Given the description of an element on the screen output the (x, y) to click on. 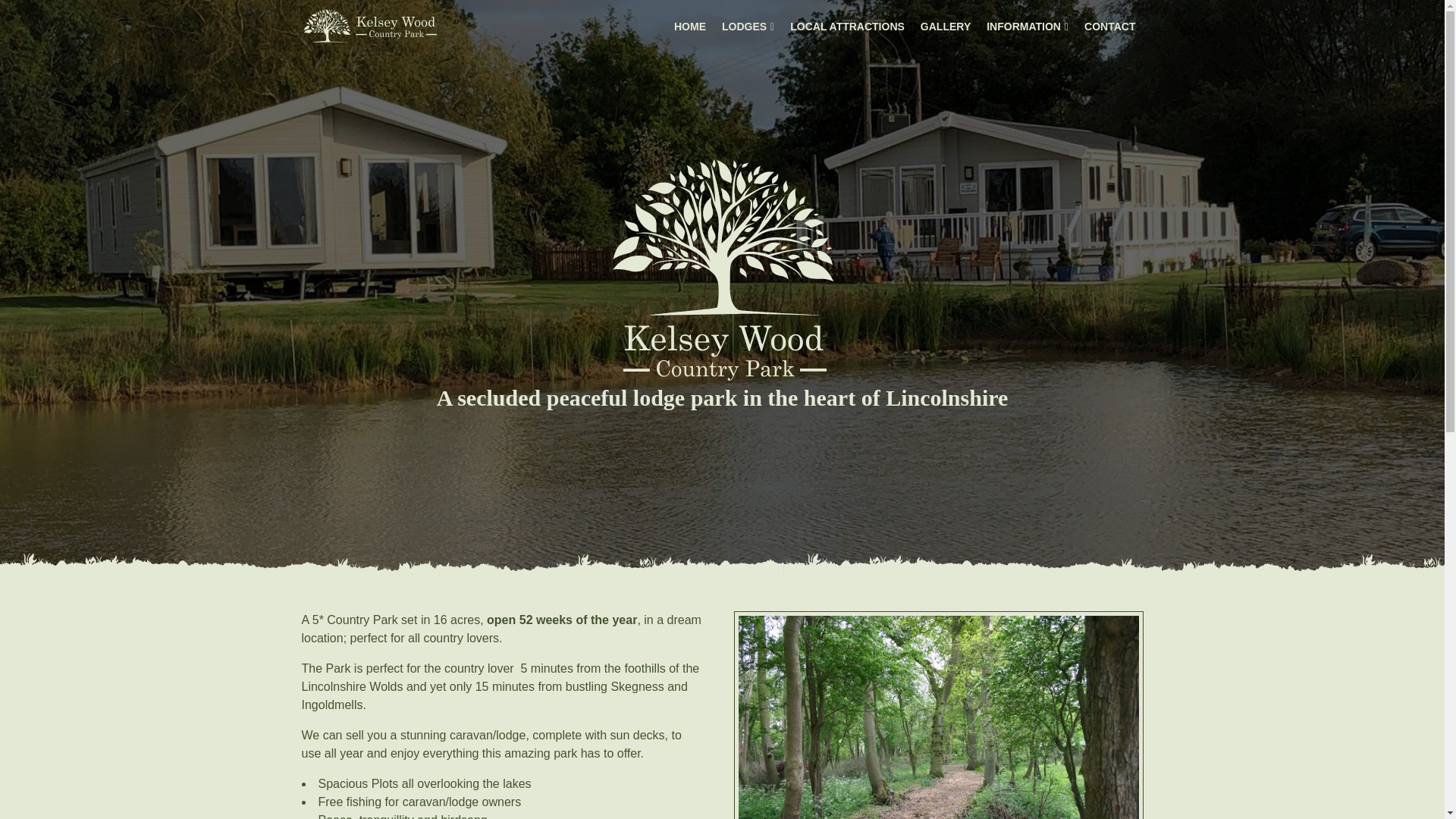
CONTACT (1109, 27)
LODGES (748, 27)
GALLERY (945, 27)
HOME (690, 27)
LOCAL ATTRACTIONS (847, 27)
INFORMATION (1027, 27)
